Given the description of an element on the screen output the (x, y) to click on. 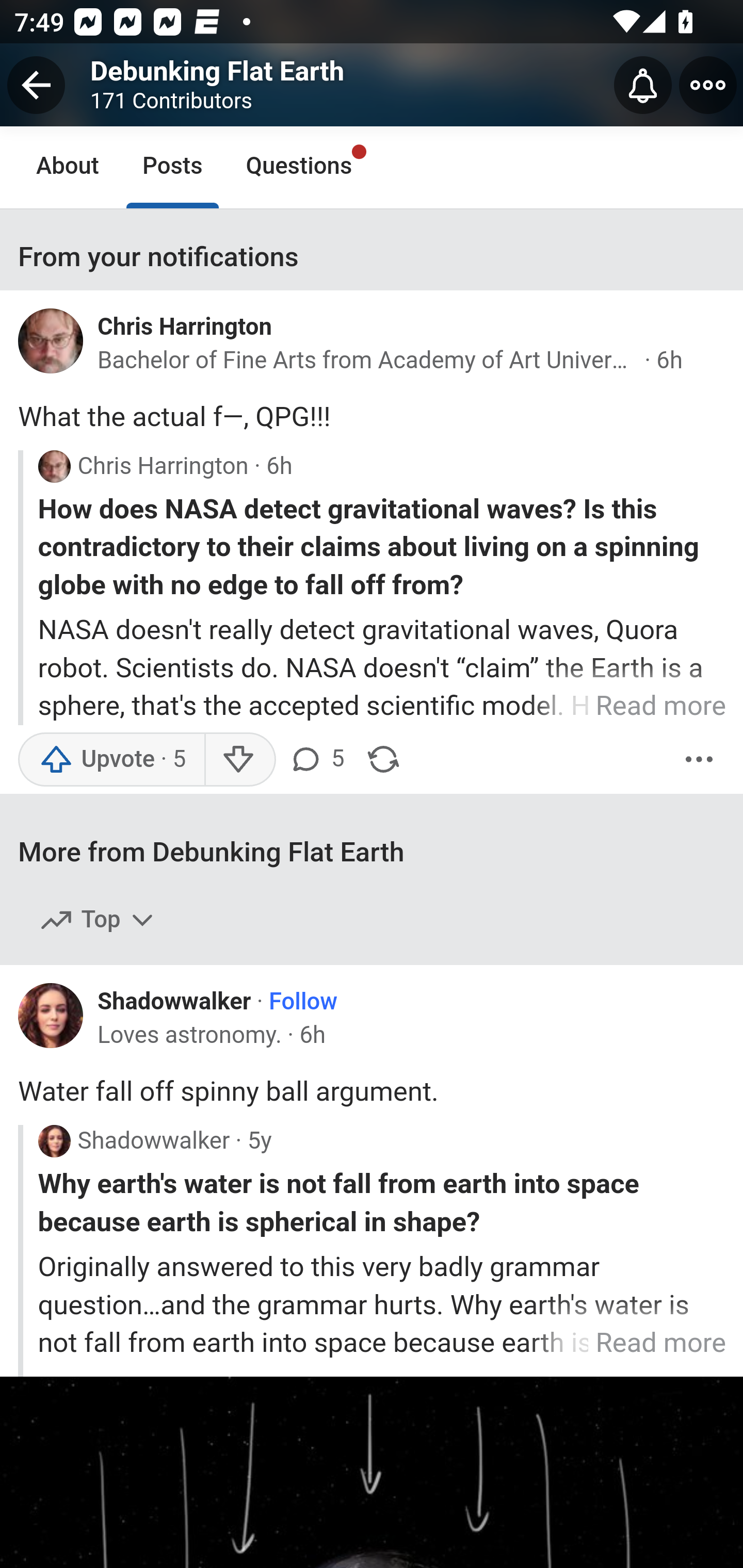
Me Notifications Search (371, 82)
About (68, 166)
Posts (171, 166)
Questions (299, 166)
Profile photo for Chris Harrington (57, 346)
Chris Harrington (184, 326)
6h 6 h (669, 360)
6h 6 h (278, 467)
Upvote Downvote (151, 759)
Downvote (238, 759)
5 comments (319, 759)
Share (383, 759)
More (699, 759)
Top (97, 921)
Profile photo for Shadowwalker (57, 1020)
Shadowwalker (174, 1001)
Follow (303, 1002)
6h 6 h (311, 1036)
Profile photo for Shadowwalker (54, 1141)
5y 5 y (258, 1141)
